Given the description of an element on the screen output the (x, y) to click on. 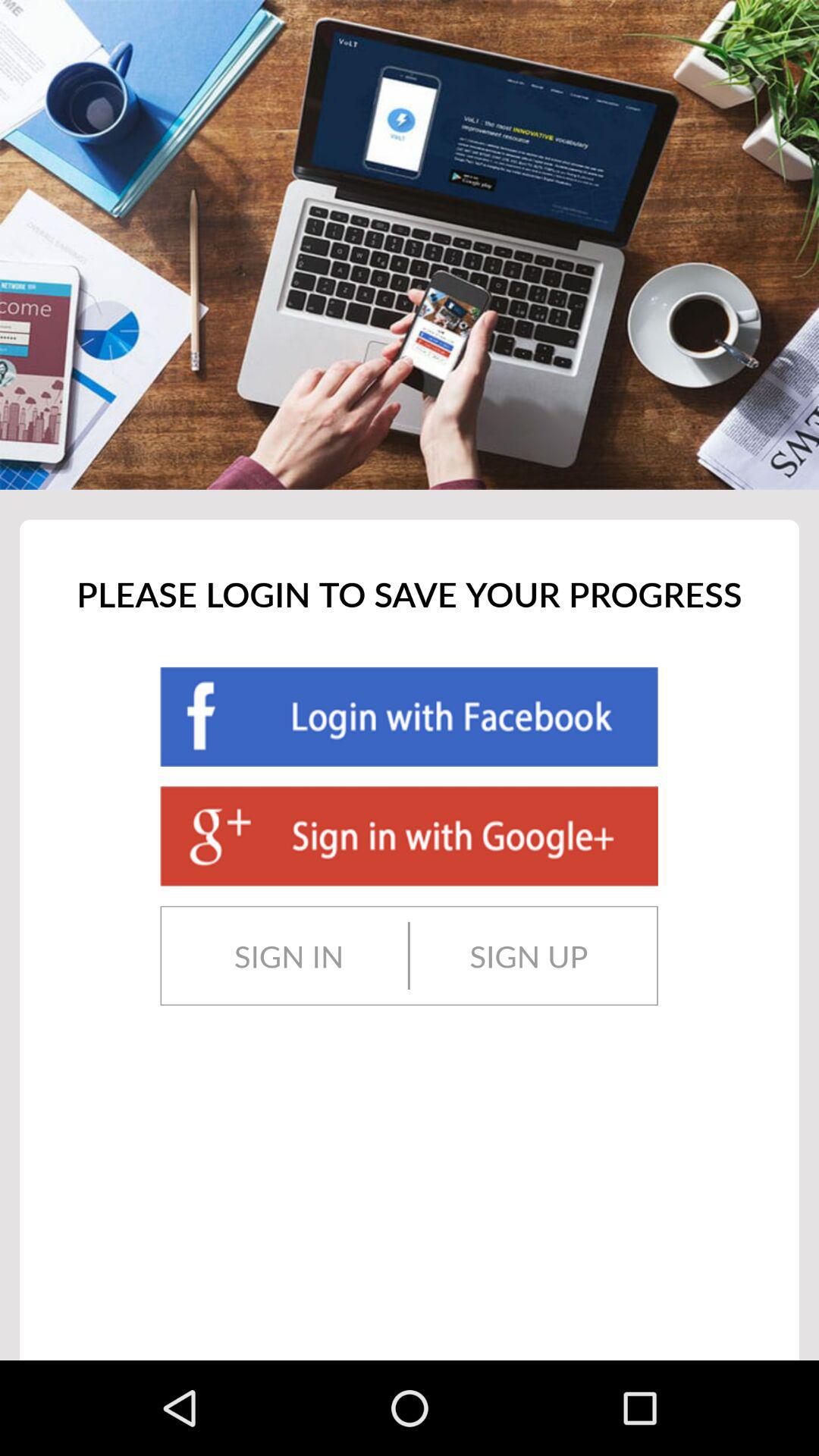
sign in with google+ (409, 836)
